Given the description of an element on the screen output the (x, y) to click on. 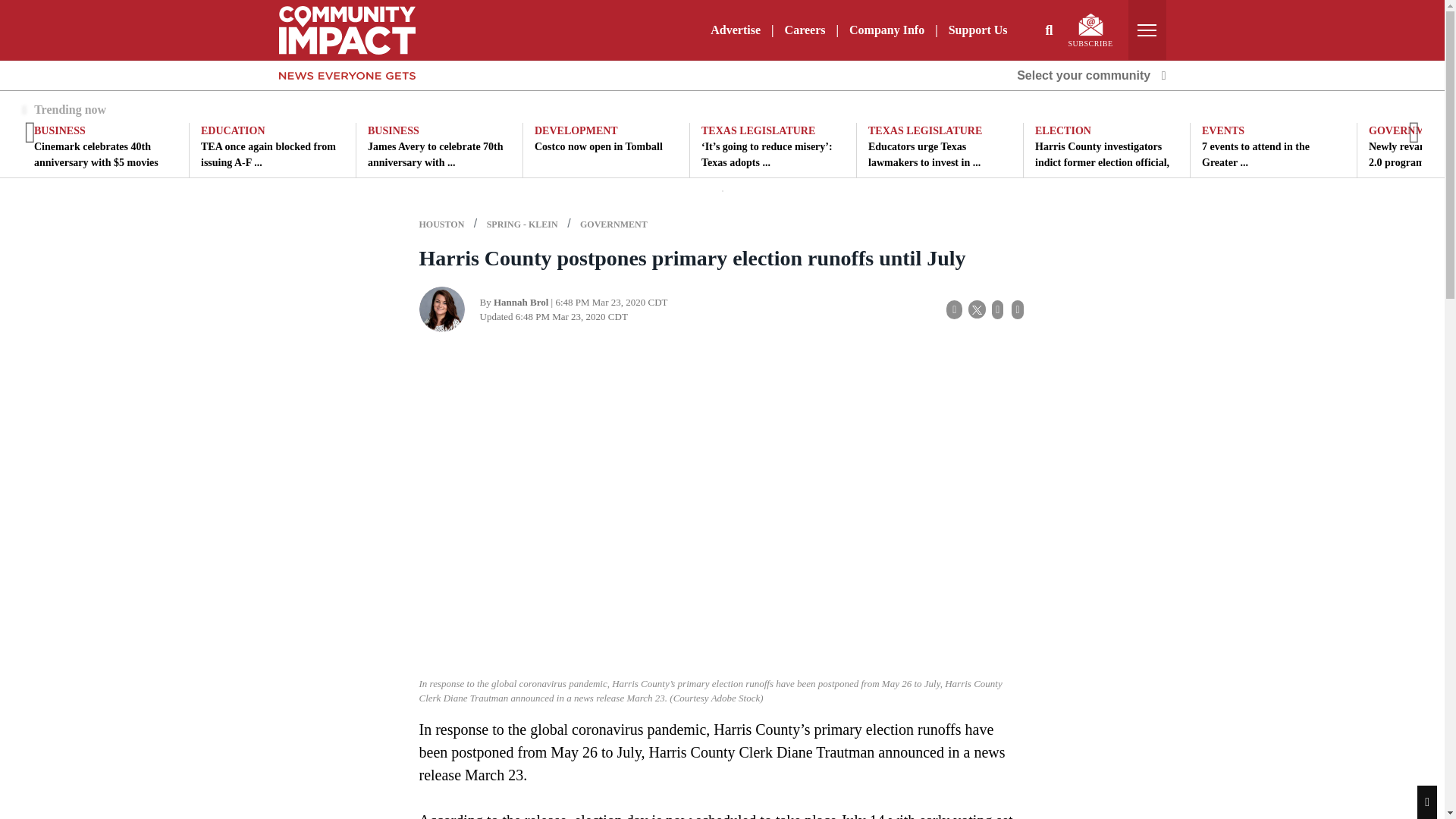
Community Impact Newspaper (346, 29)
SUBSCRIBE (1090, 30)
Careers (804, 29)
Support Us (977, 29)
Company Info (886, 29)
Advertise (735, 29)
Email Newsletter (1090, 24)
